Given the description of an element on the screen output the (x, y) to click on. 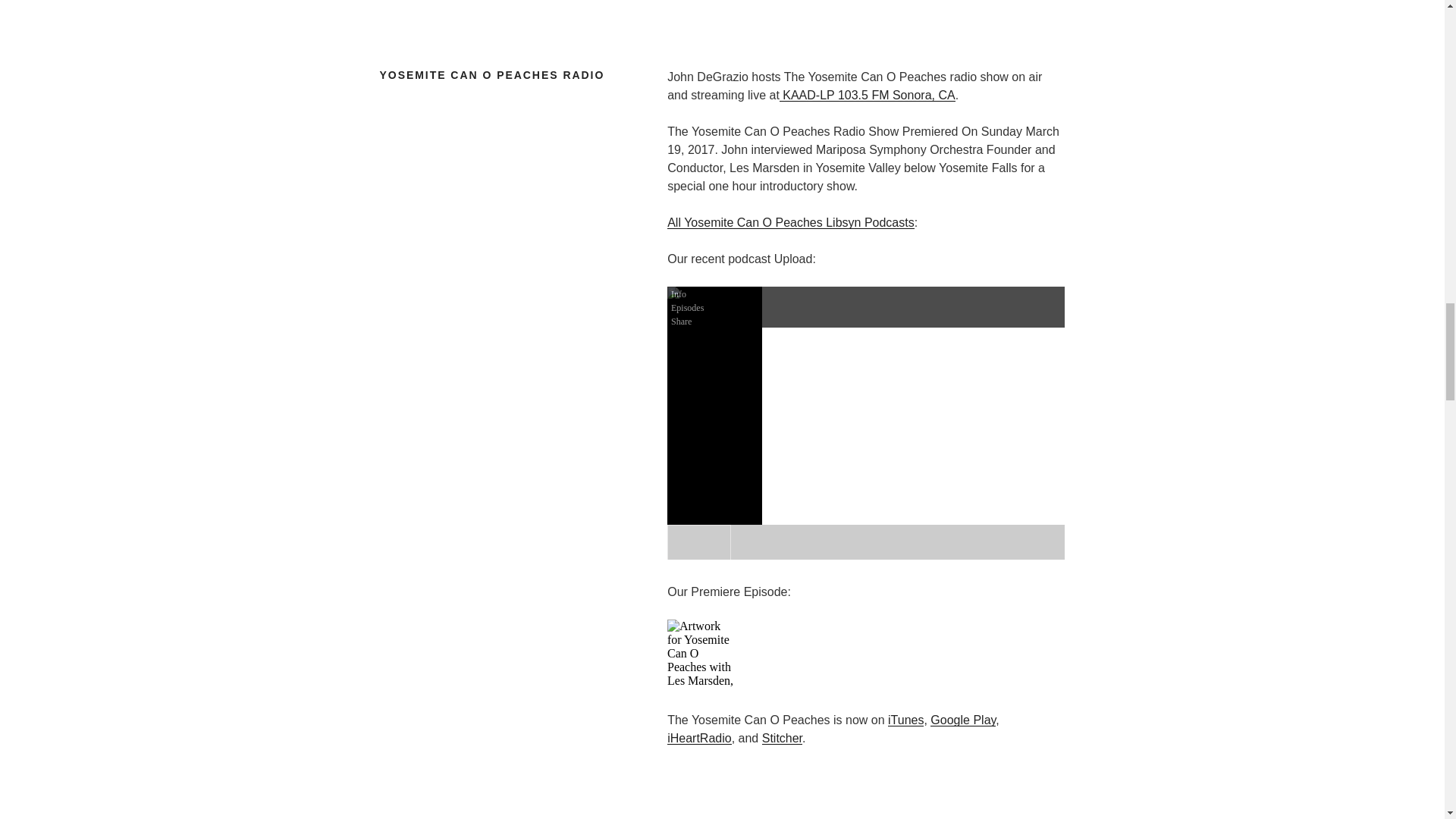
iTunes (905, 719)
Google Play (962, 719)
iHeartRadio (698, 738)
 KAAD-LP 103.5 FM Sonora, CA (866, 94)
Stitcher (781, 738)
All Yosemite Can O Peaches Libsyn Podcasts (790, 222)
